Given the description of an element on the screen output the (x, y) to click on. 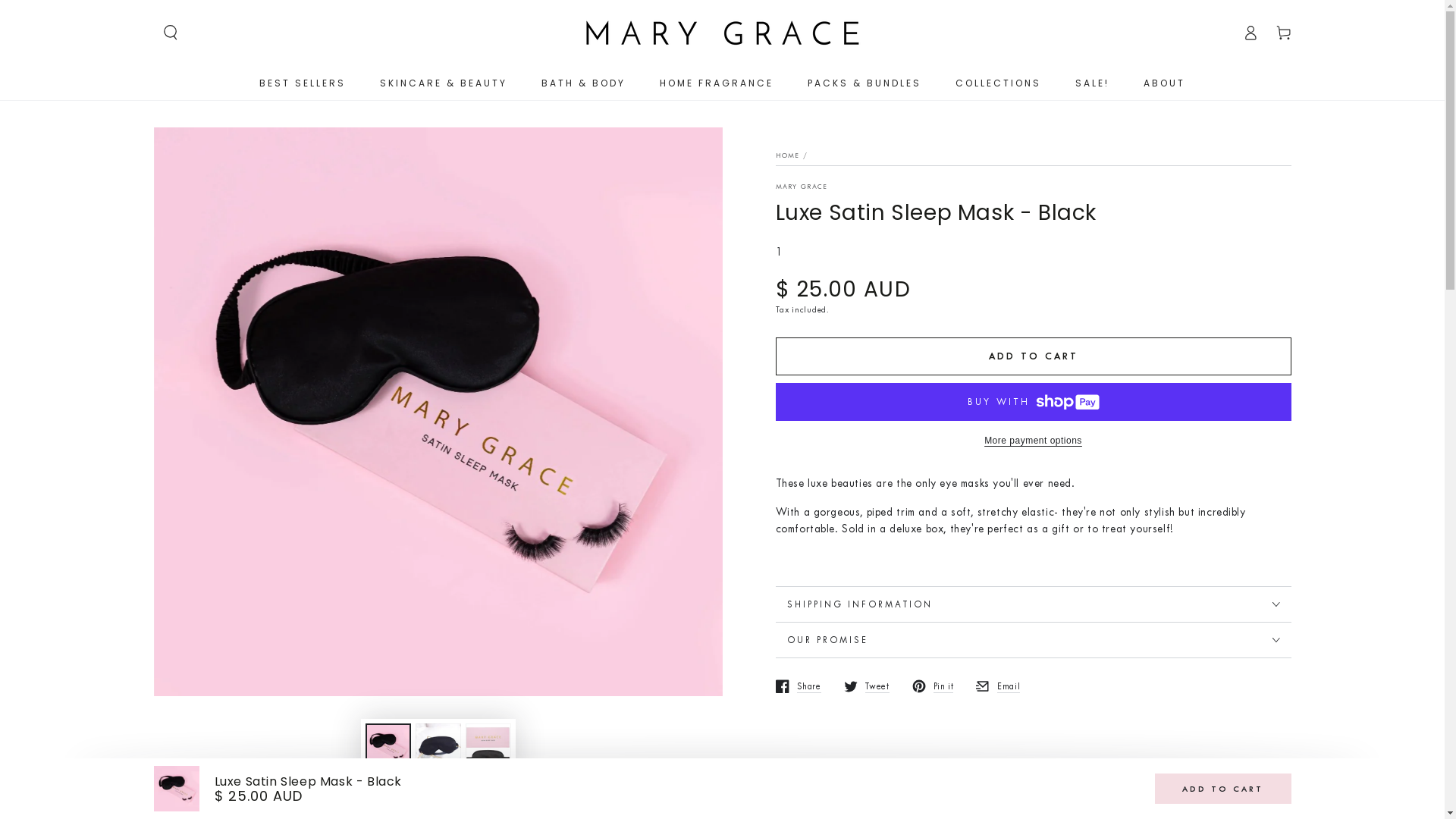
Log in Element type: text (1249, 32)
SALE! Element type: text (1091, 82)
ADD TO CART Element type: text (1032, 356)
HOME FRAGRANCE Element type: text (716, 82)
HOME Element type: text (787, 155)
COLLECTIONS Element type: text (998, 82)
More payment options Element type: text (1032, 440)
ADD TO CART Element type: text (1222, 788)
Email
Opens in a new window. Element type: text (997, 685)
MARY GRACE Element type: text (801, 186)
Tweet
Opens in a new window. Element type: text (865, 685)
BEST SELLERS Element type: text (302, 82)
SKINCARE & BEAUTY Element type: text (443, 82)
Open media 1 in modal Element type: text (437, 411)
BATH & BODY Element type: text (583, 82)
SKIP TO PRODUCT INFORMATION Element type: text (244, 145)
Share
Opens in a new window. Element type: text (797, 685)
ABOUT Element type: text (1164, 82)
Pin it
Opens in a new window. Element type: text (932, 685)
PACKS & BUNDLES Element type: text (864, 82)
